Given the description of an element on the screen output the (x, y) to click on. 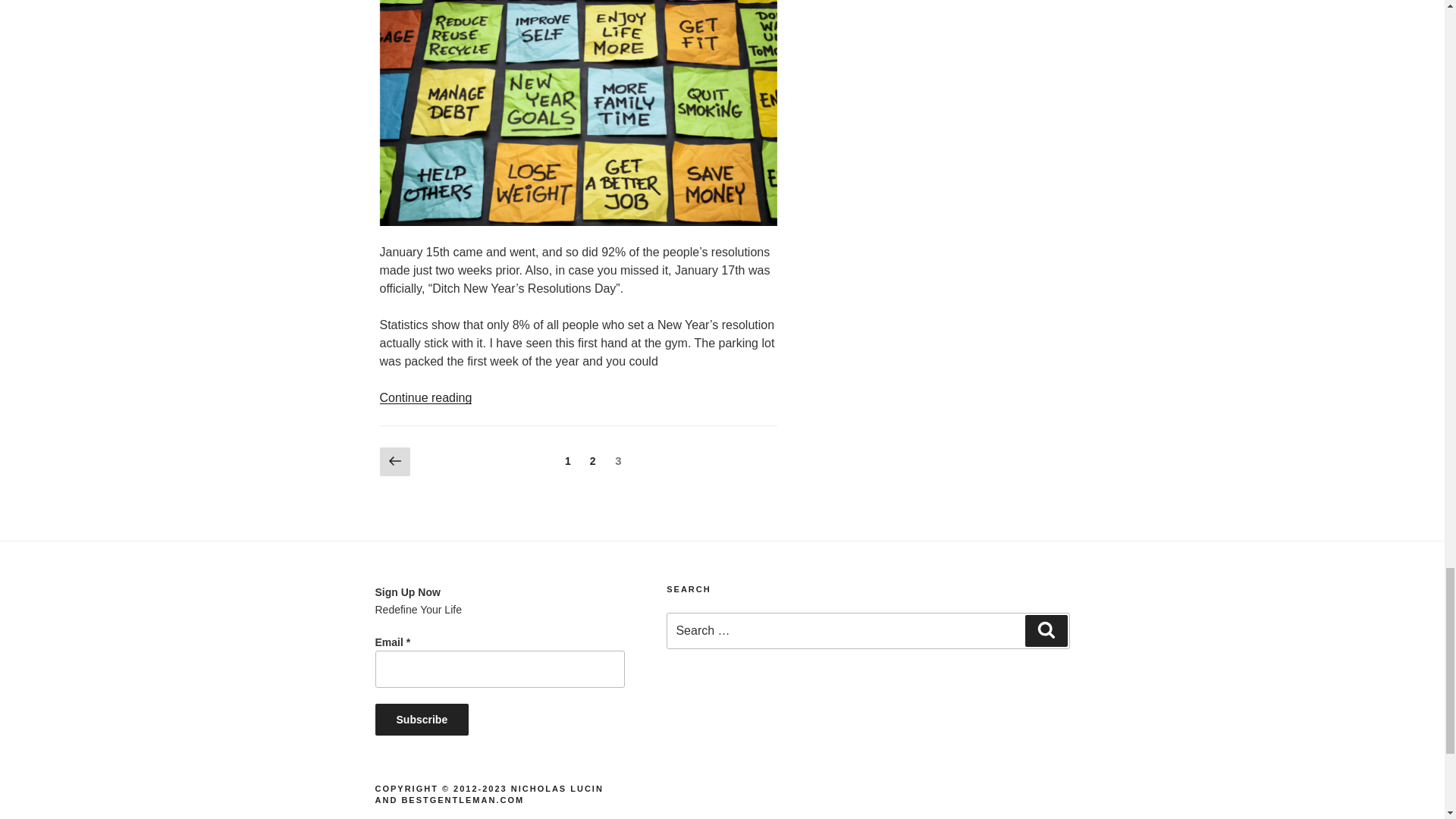
Subscribe (421, 719)
Previous page (393, 462)
Subscribe (421, 719)
